Given the description of an element on the screen output the (x, y) to click on. 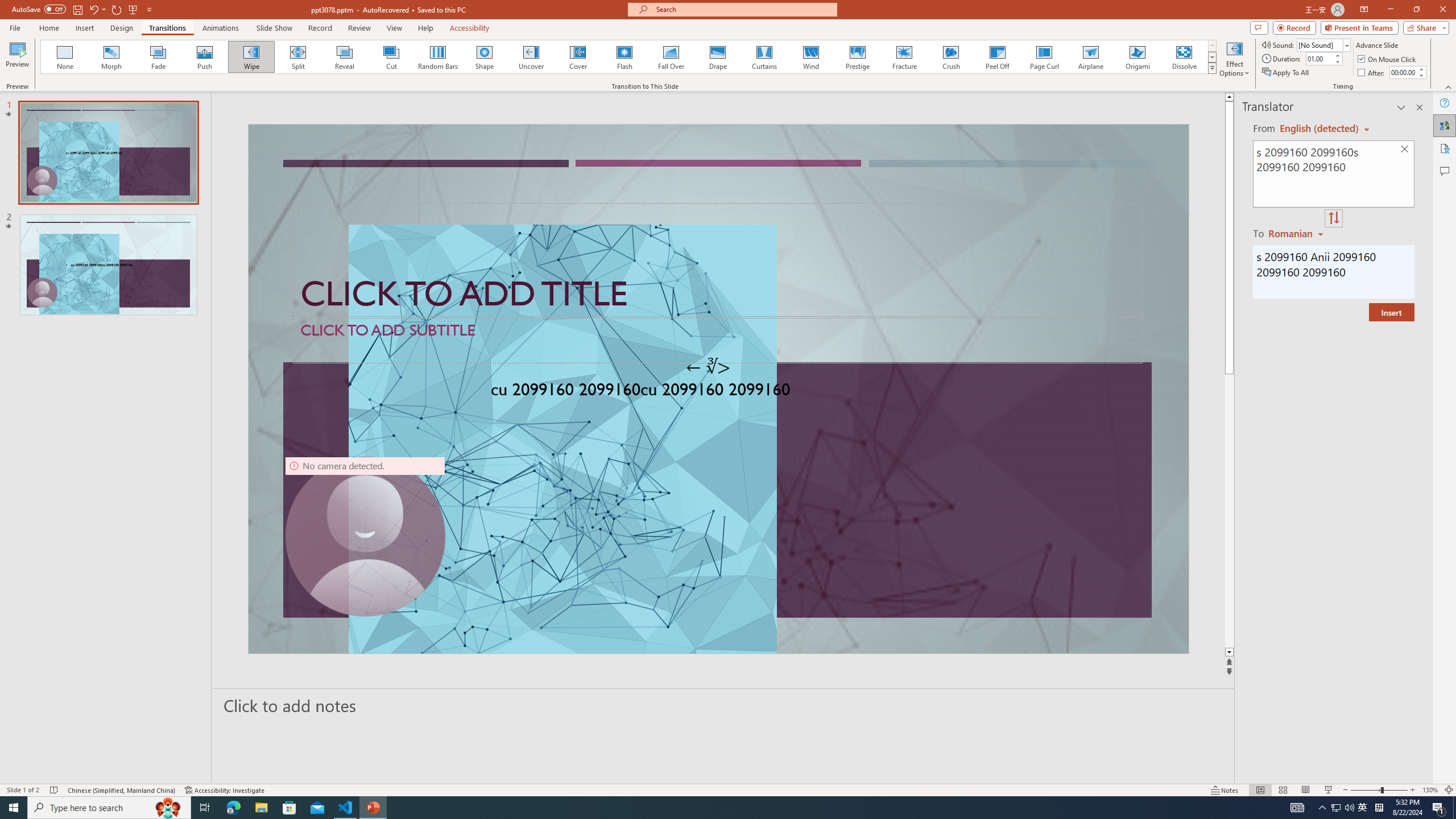
Split (298, 56)
Accessibility Checker Accessibility: Investigate (224, 790)
Cut (391, 56)
